Given the description of an element on the screen output the (x, y) to click on. 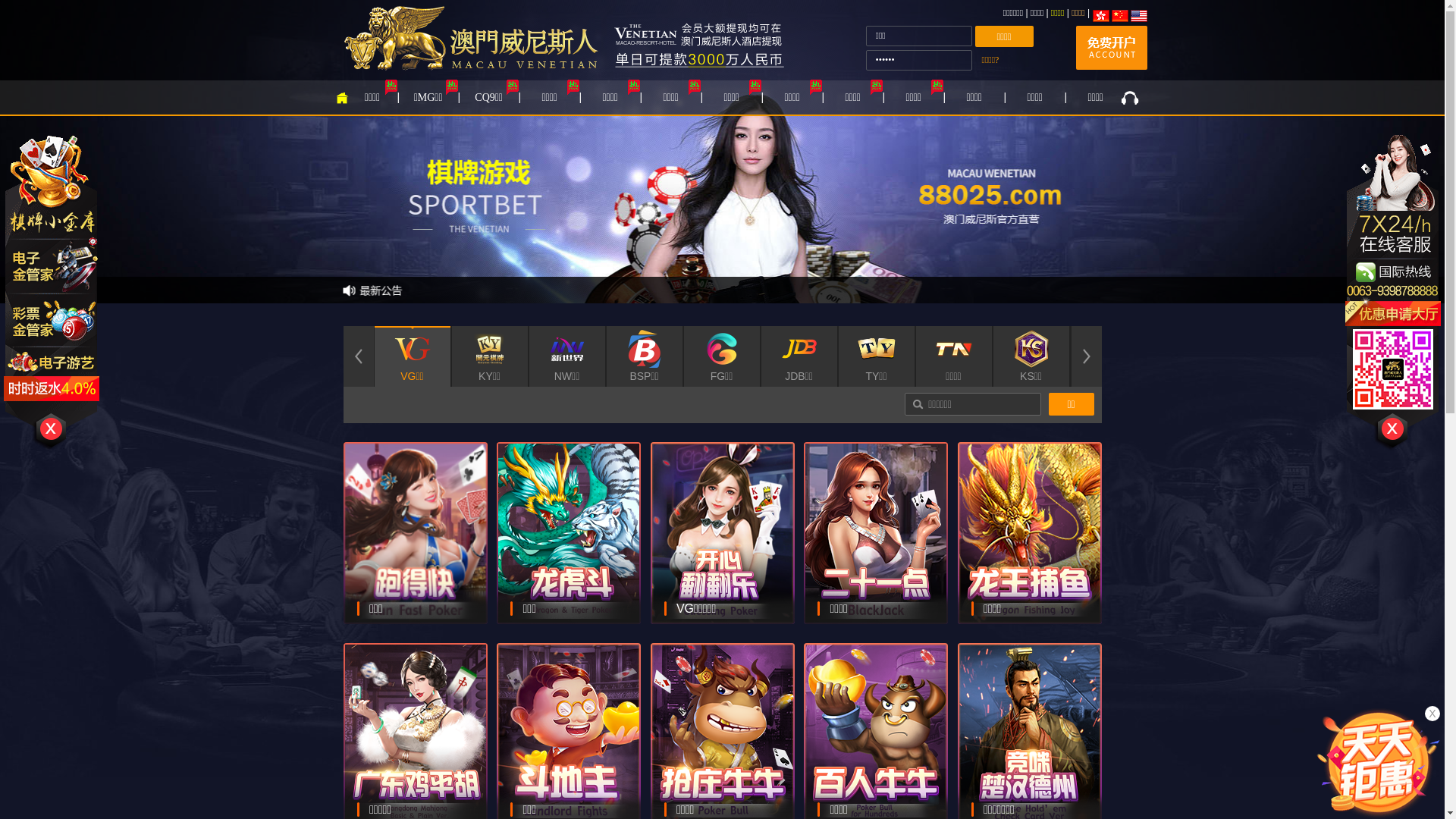
0 Element type: text (567, 416)
0 Element type: text (489, 416)
X Element type: text (1432, 713)
0 Element type: text (412, 416)
